Given the description of an element on the screen output the (x, y) to click on. 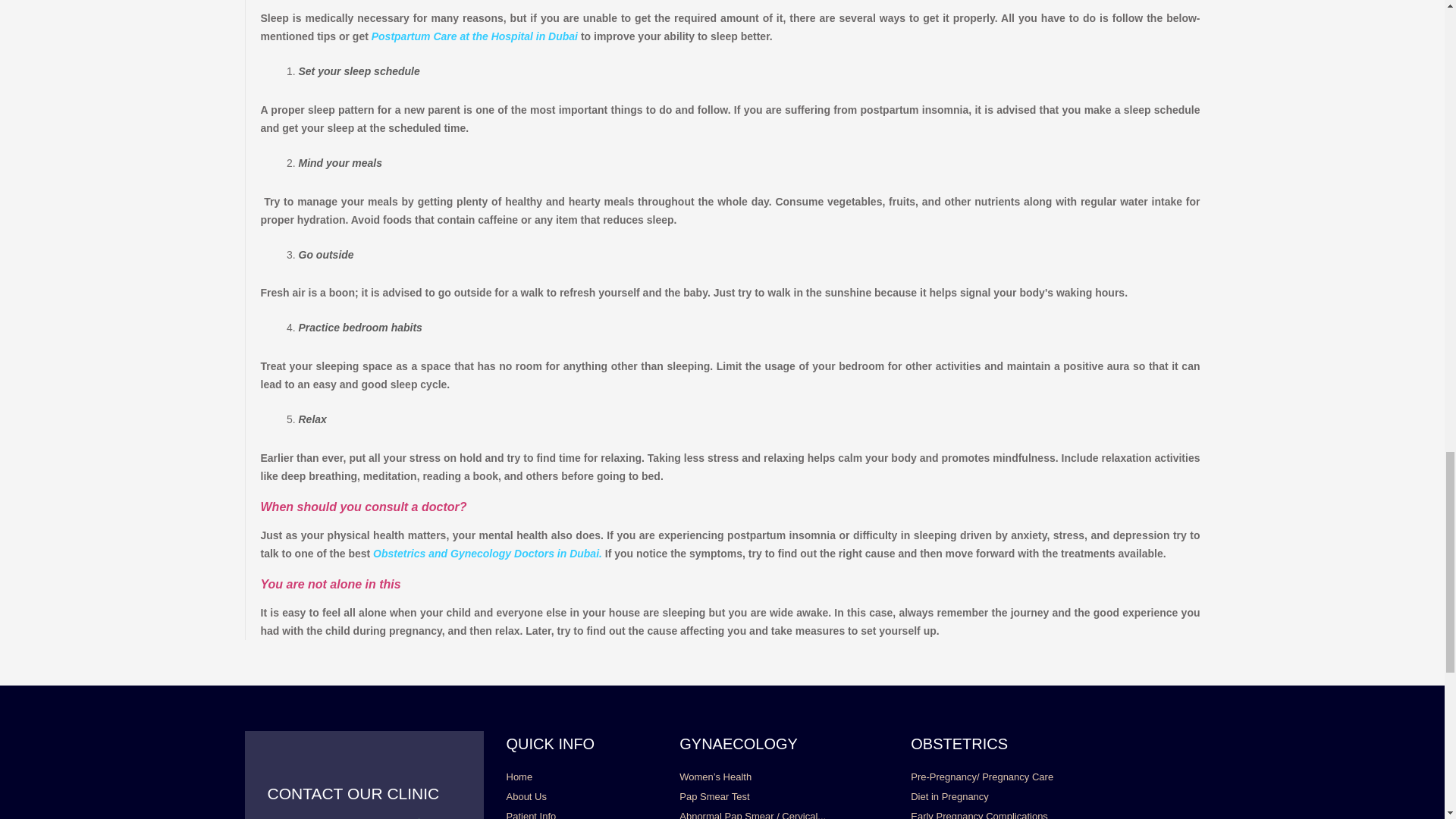
About Us (526, 796)
Patient Info (531, 812)
Home (519, 777)
Obstetrics and Gynecology Doctors in Dubai. (488, 553)
Postpartum Care at the Hospital in Dubai (474, 36)
